Given the description of an element on the screen output the (x, y) to click on. 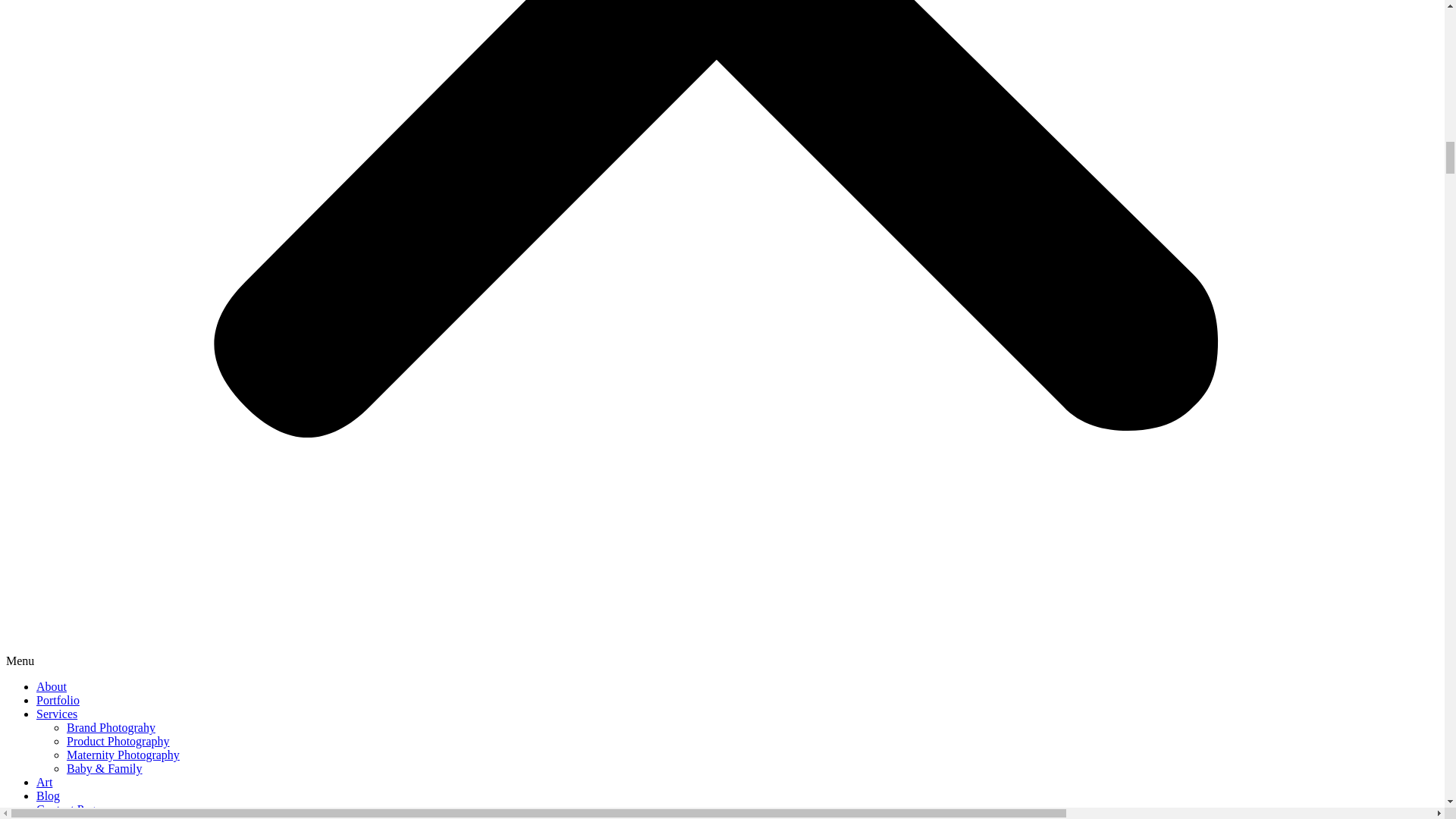
Brand Photograhy (110, 727)
Services (56, 713)
Art (44, 781)
Portfolio (58, 699)
About (51, 686)
Contact Page (68, 809)
Blog (47, 795)
Product Photography (118, 740)
Maternity Photography (122, 754)
